Given the description of an element on the screen output the (x, y) to click on. 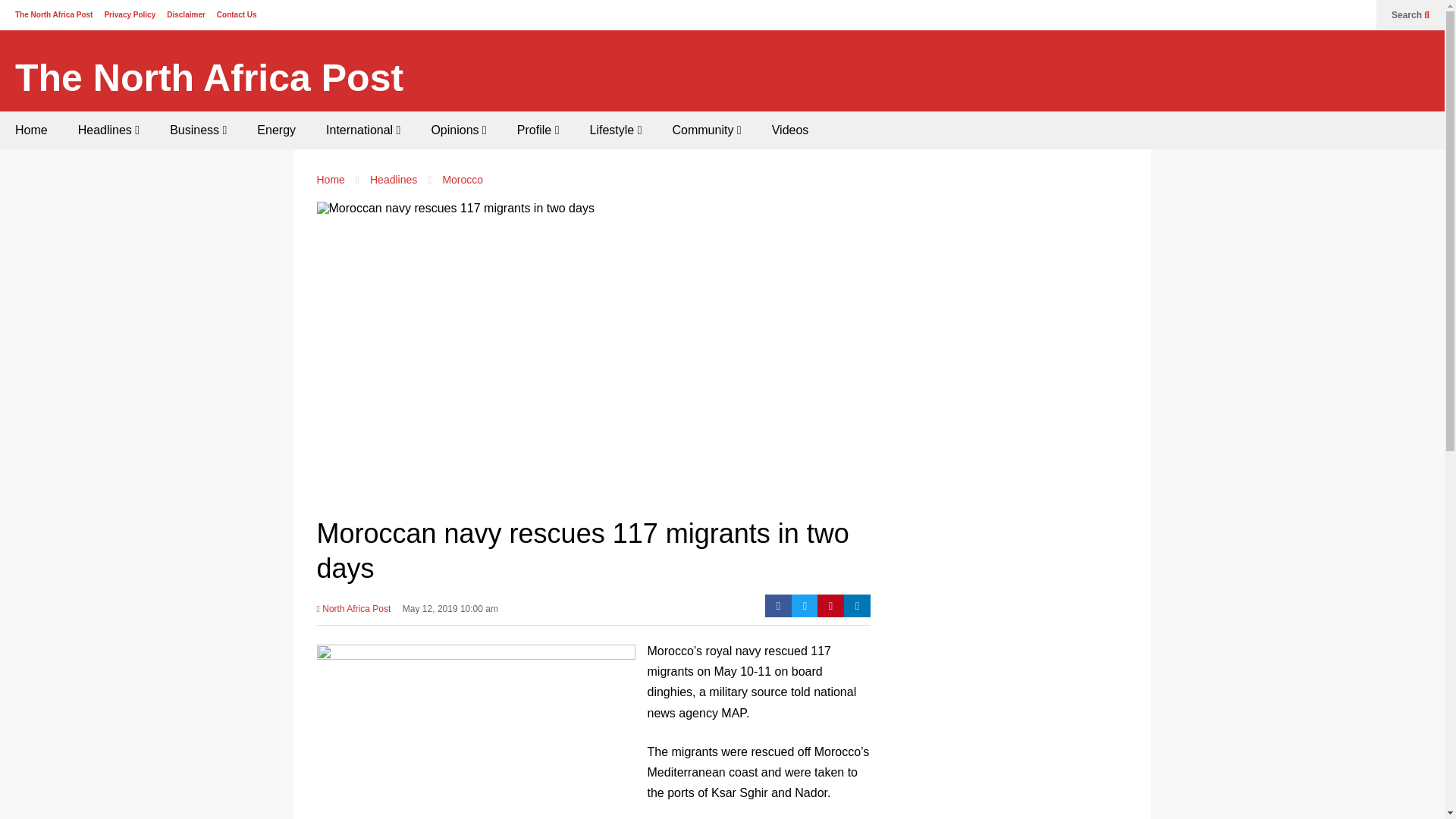
Privacy Policy (129, 14)
Lifestyle (616, 130)
Linkedin (857, 605)
Search (1410, 15)
International (362, 130)
Home (31, 130)
Videos (790, 130)
Business (197, 130)
Community (705, 130)
Twitter (805, 605)
